Given the description of an element on the screen output the (x, y) to click on. 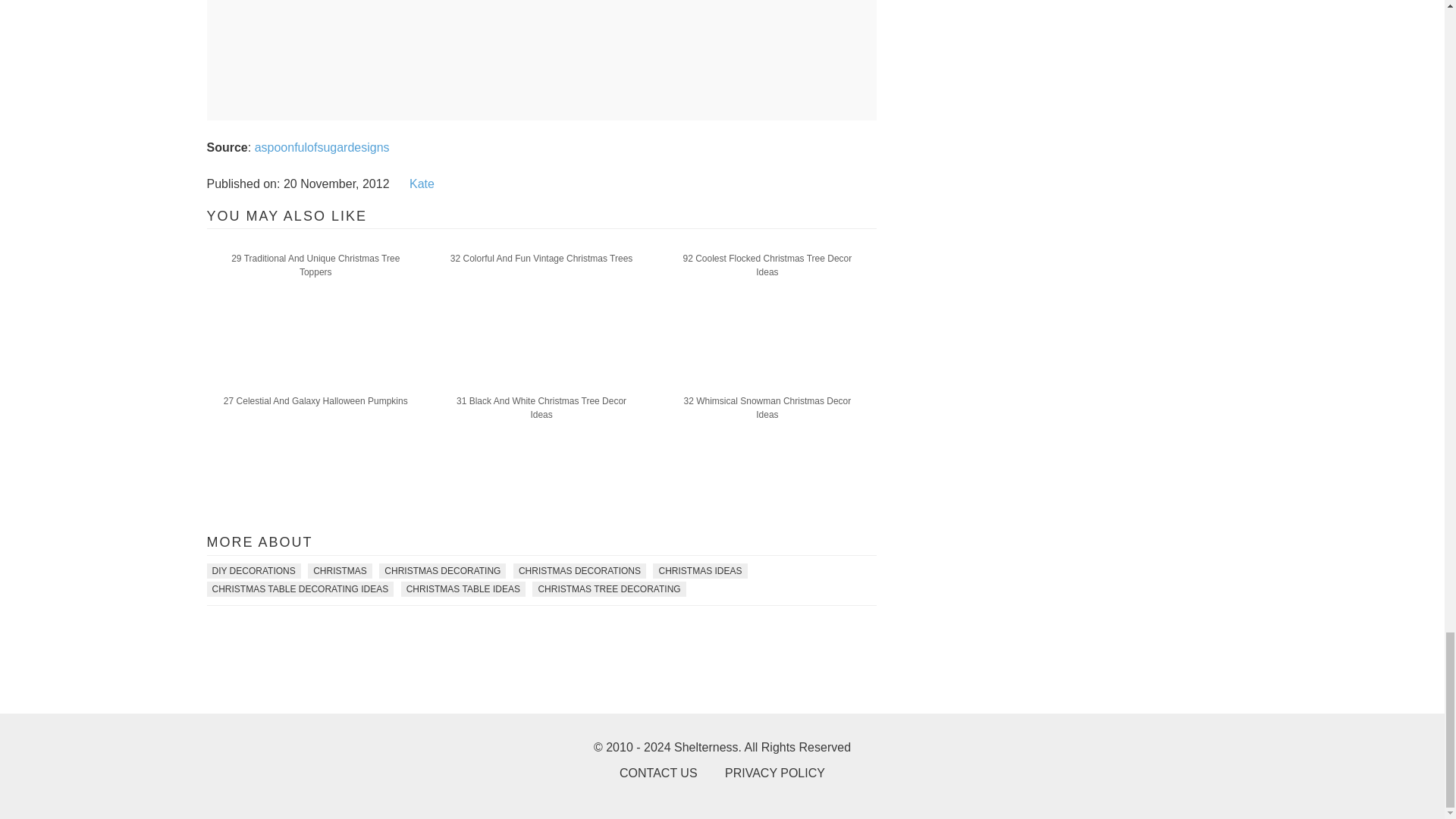
32 Colorful And Fun Vintage Christmas Trees (542, 258)
29 Traditional And Unique Christmas Tree Toppers (314, 265)
Kate (421, 183)
aspoonfulofsugardesigns (322, 146)
